Given the description of an element on the screen output the (x, y) to click on. 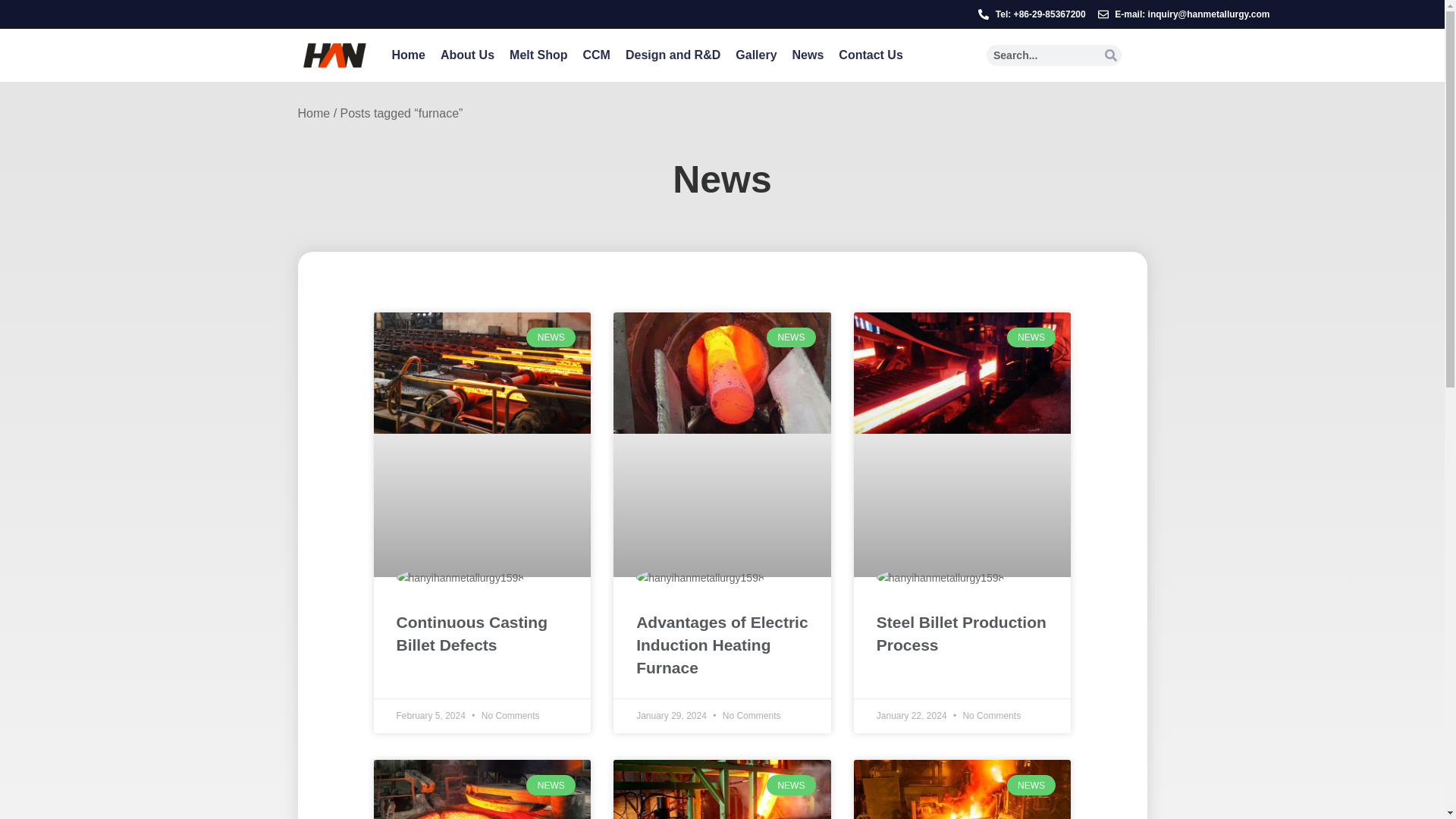
Continuous Casting Billet Defects (481, 633)
Home (313, 113)
Gallery (756, 55)
Steel Billet Production Process (962, 633)
Contact Us (870, 55)
Advantages of Electric Induction Heating Furnace (722, 644)
Home (408, 55)
CCM (596, 55)
News (807, 55)
About Us (467, 55)
